Given the description of an element on the screen output the (x, y) to click on. 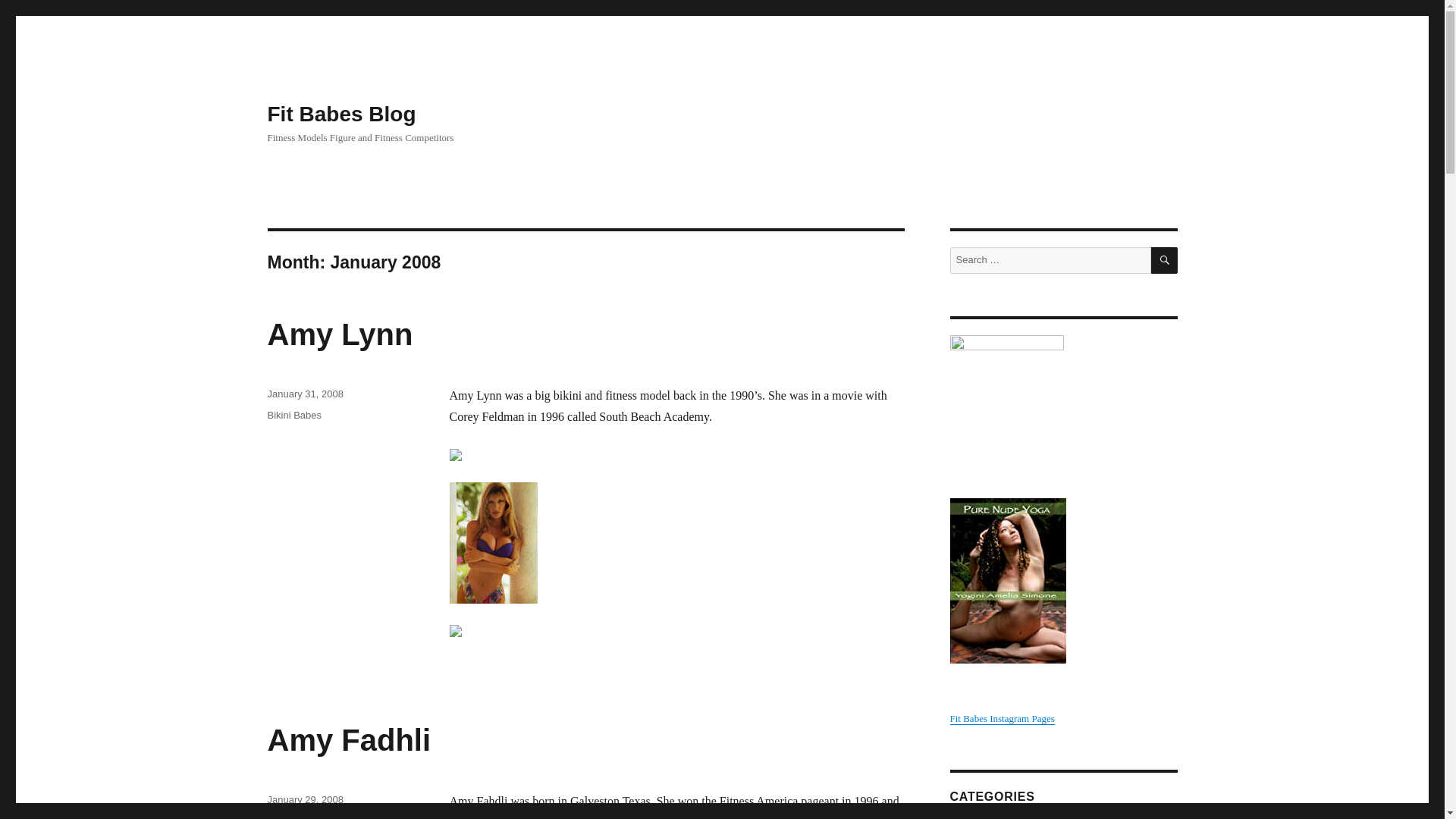
Fit Babes Blog (340, 114)
Amy Lynn (339, 334)
Amy Fadhli (348, 739)
Muscular Blondes (305, 816)
Bikini Babes (293, 414)
January 31, 2008 (304, 393)
January 29, 2008 (304, 799)
